Given the description of an element on the screen output the (x, y) to click on. 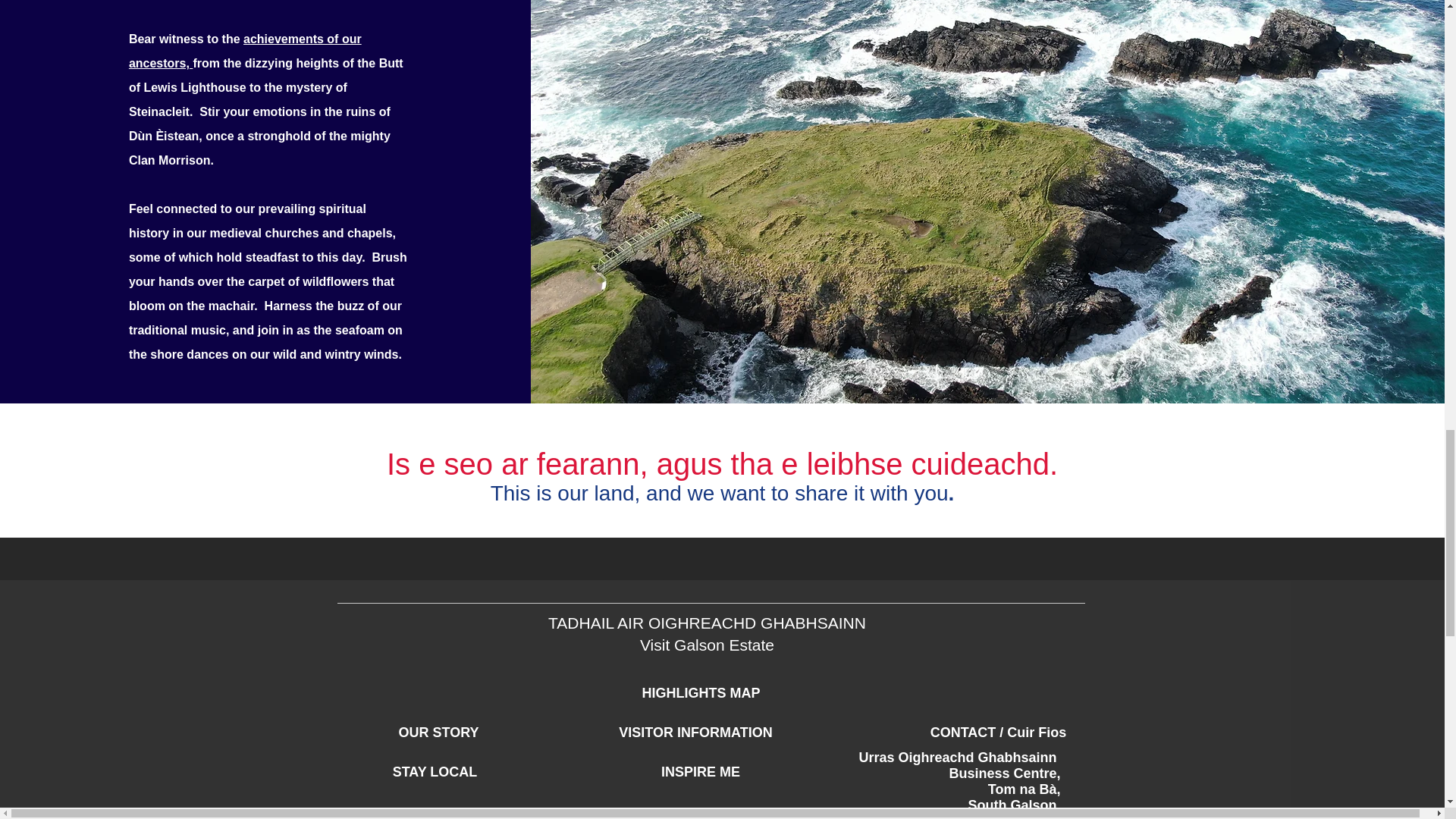
INSPIRE ME (700, 772)
HIGHLIGHTS MAP (700, 693)
TADHAIL AIR OIGHREACHD GHABHSAINN (707, 622)
VISITOR INFORMATION (695, 732)
achievements of our ancestors, (245, 50)
STAY LOCAL (433, 772)
OUR STORY (438, 732)
